Given the description of an element on the screen output the (x, y) to click on. 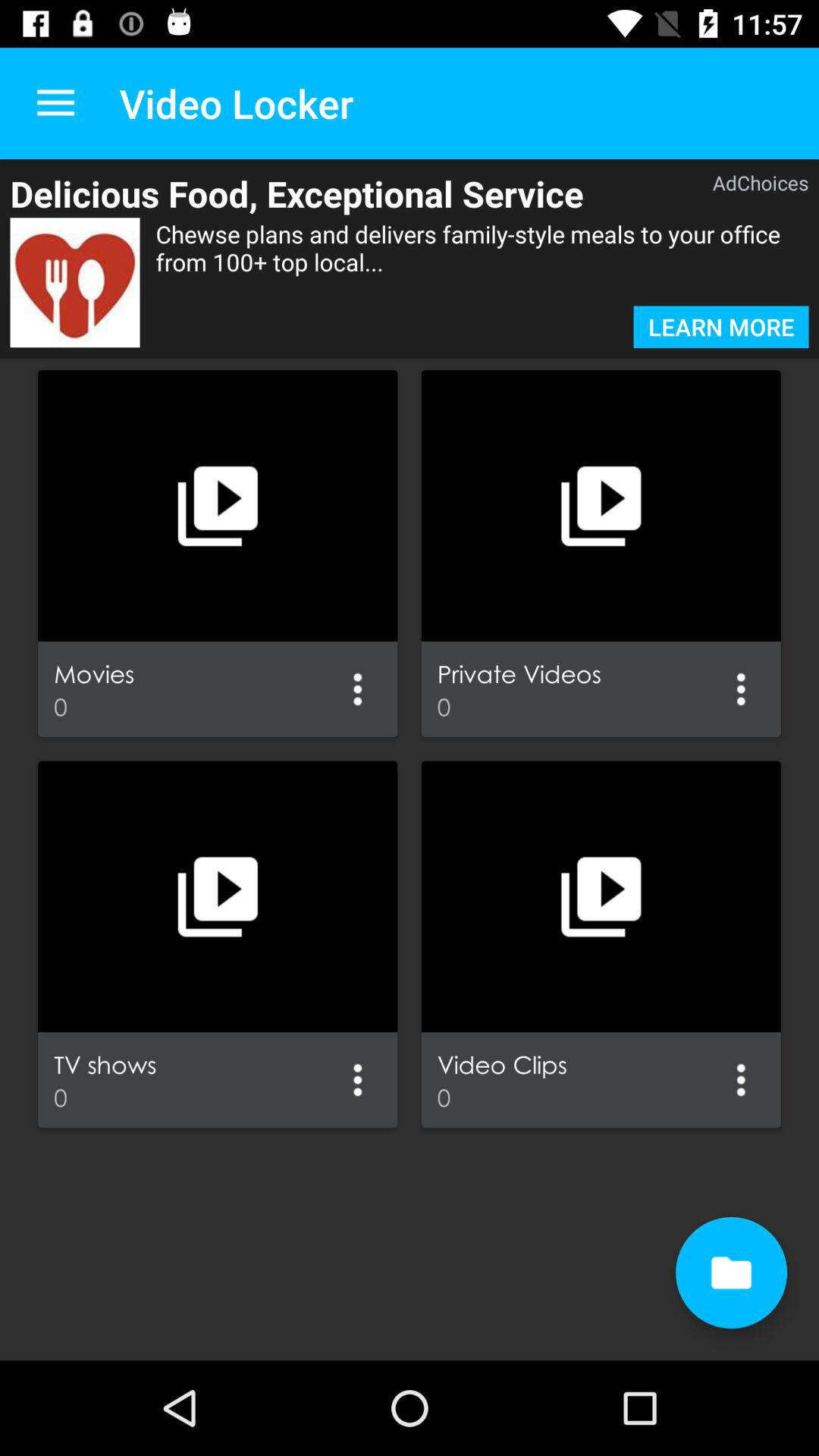
click the item next to the video locker item (55, 103)
